Given the description of an element on the screen output the (x, y) to click on. 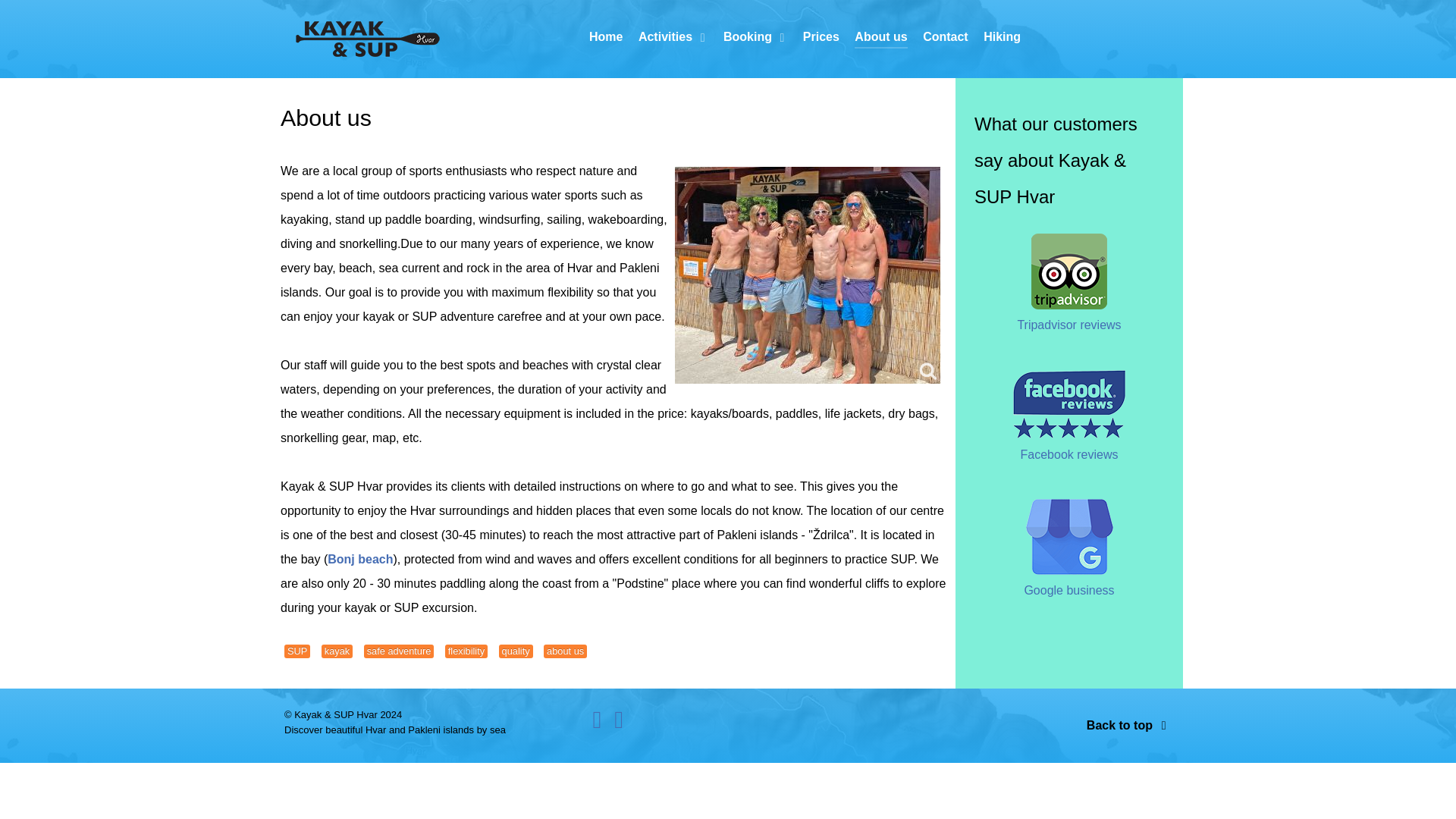
about us (564, 651)
safe adventure (398, 651)
kayak (336, 651)
Home (606, 38)
Booking (755, 38)
Contact (945, 38)
SUP (296, 651)
Tripadvisor reviews (1068, 324)
Instagram (618, 723)
About us (880, 38)
